Given the description of an element on the screen output the (x, y) to click on. 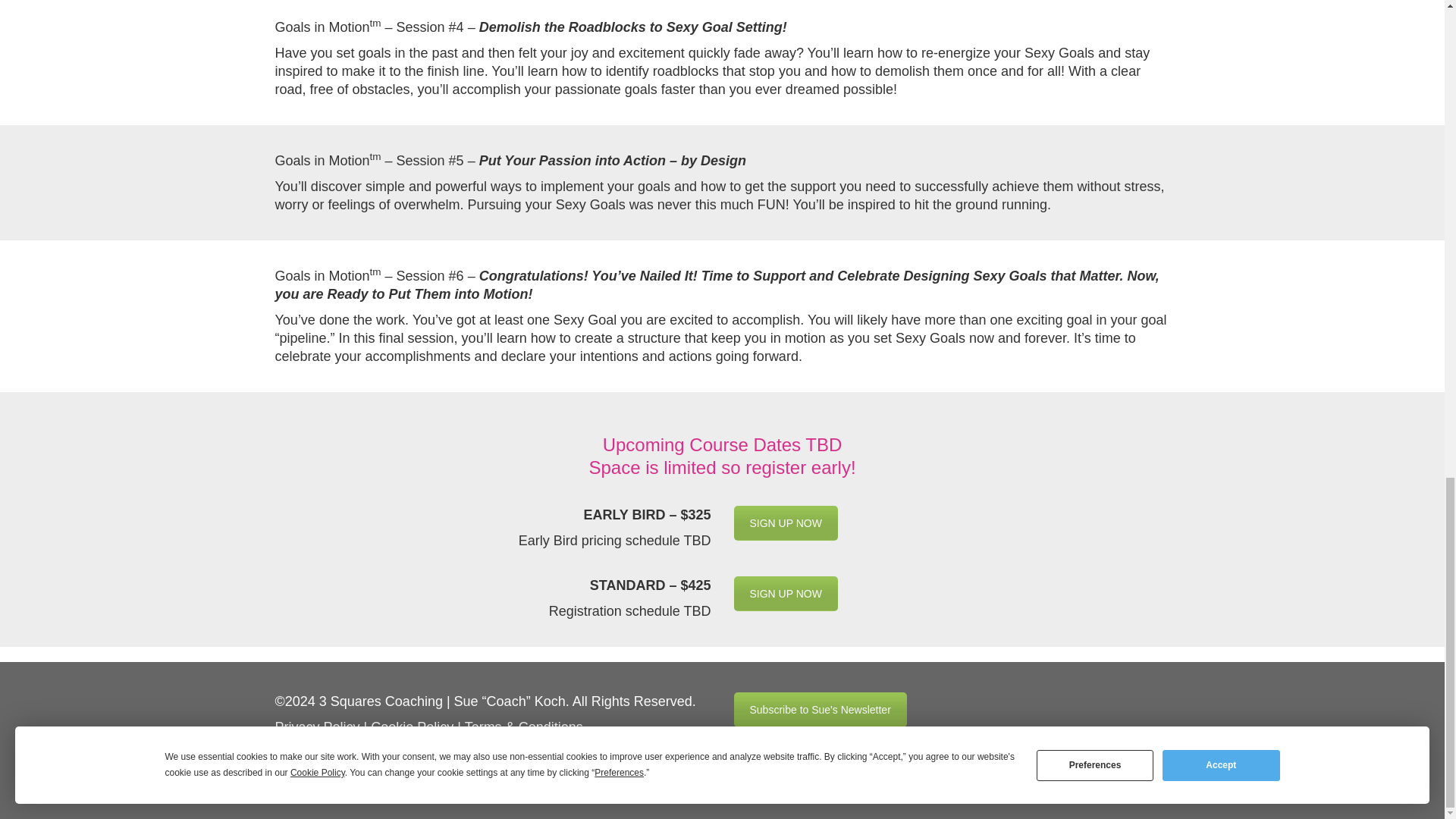
Enrollment (785, 523)
Enrollment (785, 593)
Newsletter Signup (820, 709)
